Given the description of an element on the screen output the (x, y) to click on. 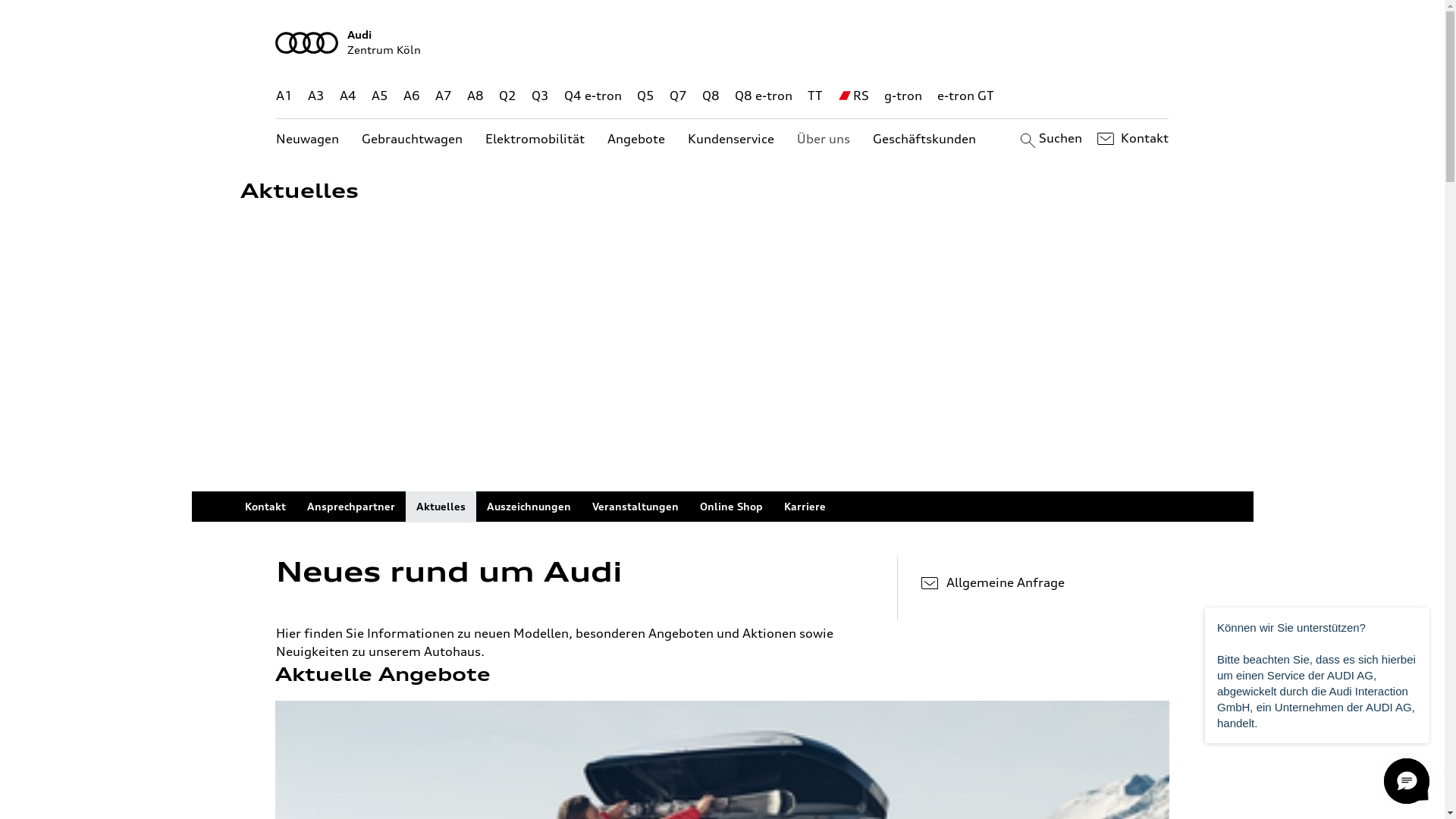
A6 Element type: text (411, 95)
TT Element type: text (814, 95)
Q7 Element type: text (678, 95)
Auszeichnungen Element type: text (528, 506)
Angebote Element type: text (636, 139)
Q8 e-tron Element type: text (763, 95)
Q4 e-tron Element type: text (592, 95)
Q8 Element type: text (710, 95)
Online Shop Element type: text (730, 506)
A1 Element type: text (284, 95)
Q3 Element type: text (540, 95)
Neuwagen Element type: text (307, 139)
RS Element type: text (861, 95)
A5 Element type: text (379, 95)
Karriere Element type: text (804, 506)
Suchen Element type: text (1049, 138)
Kontakt Element type: text (1130, 138)
Gebrauchtwagen Element type: text (411, 139)
e-tron GT Element type: text (965, 95)
Kontakt Element type: text (264, 506)
Veranstaltungen Element type: text (634, 506)
g-tron Element type: text (903, 95)
A8 Element type: text (475, 95)
Acquire Live Chat Element type: hover (1406, 780)
Q5 Element type: text (645, 95)
Q2 Element type: text (507, 95)
A3 Element type: text (315, 95)
Aktuelles Element type: text (439, 506)
Allgemeine Anfrage Element type: text (1044, 582)
A7 Element type: text (443, 95)
A4 Element type: text (347, 95)
Ansprechpartner Element type: text (349, 506)
Kundenservice Element type: text (730, 139)
